Given the description of an element on the screen output the (x, y) to click on. 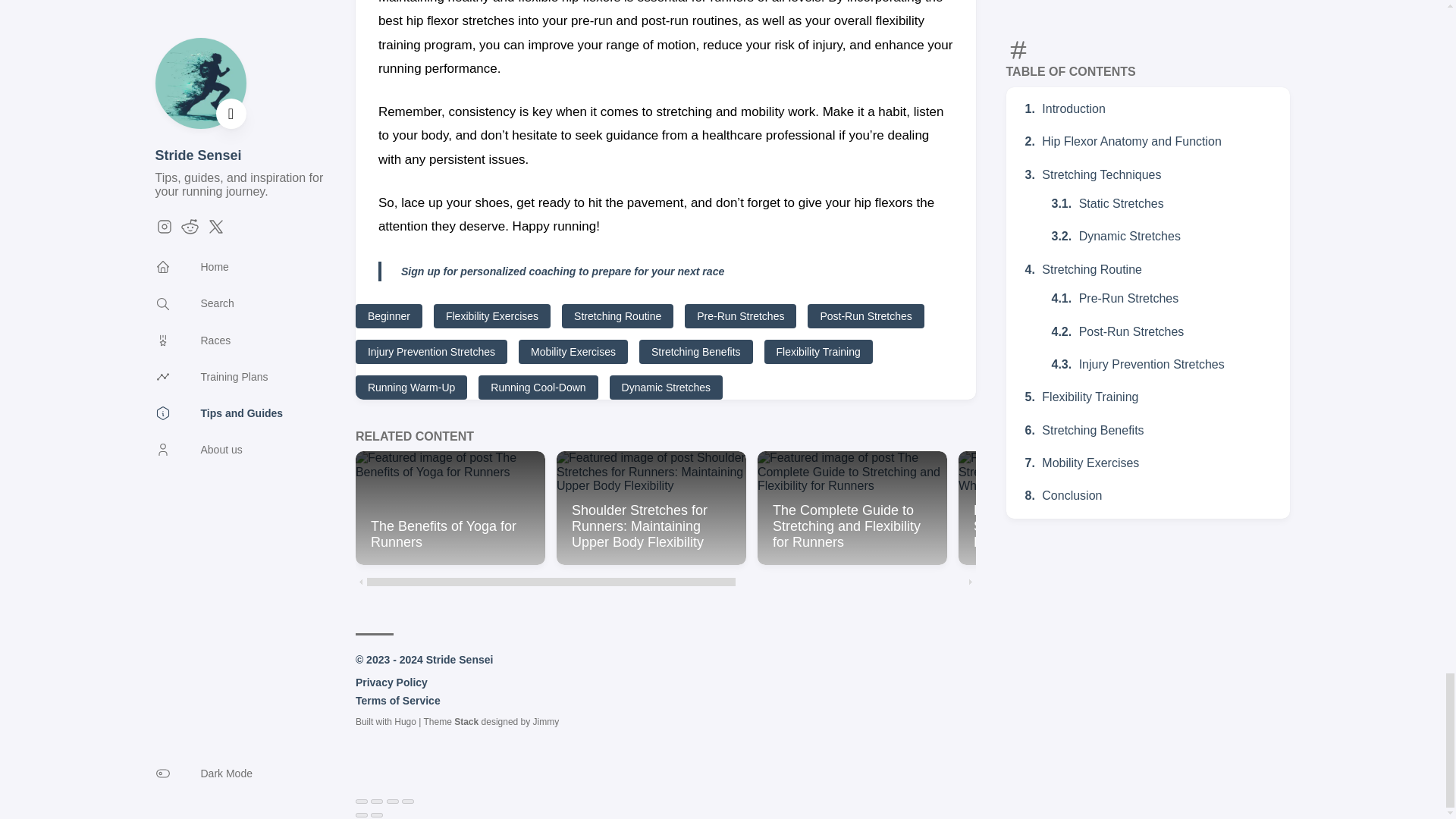
Post-Run Stretches (865, 315)
Beginner (388, 315)
Stretching Benefits (695, 351)
Toggle fullscreen (392, 801)
Stretching Routine (617, 315)
Running Warm-Up (411, 387)
Flexibility Exercises (491, 315)
Mobility Exercises (572, 351)
Injury Prevention Stretches (430, 351)
